Given the description of an element on the screen output the (x, y) to click on. 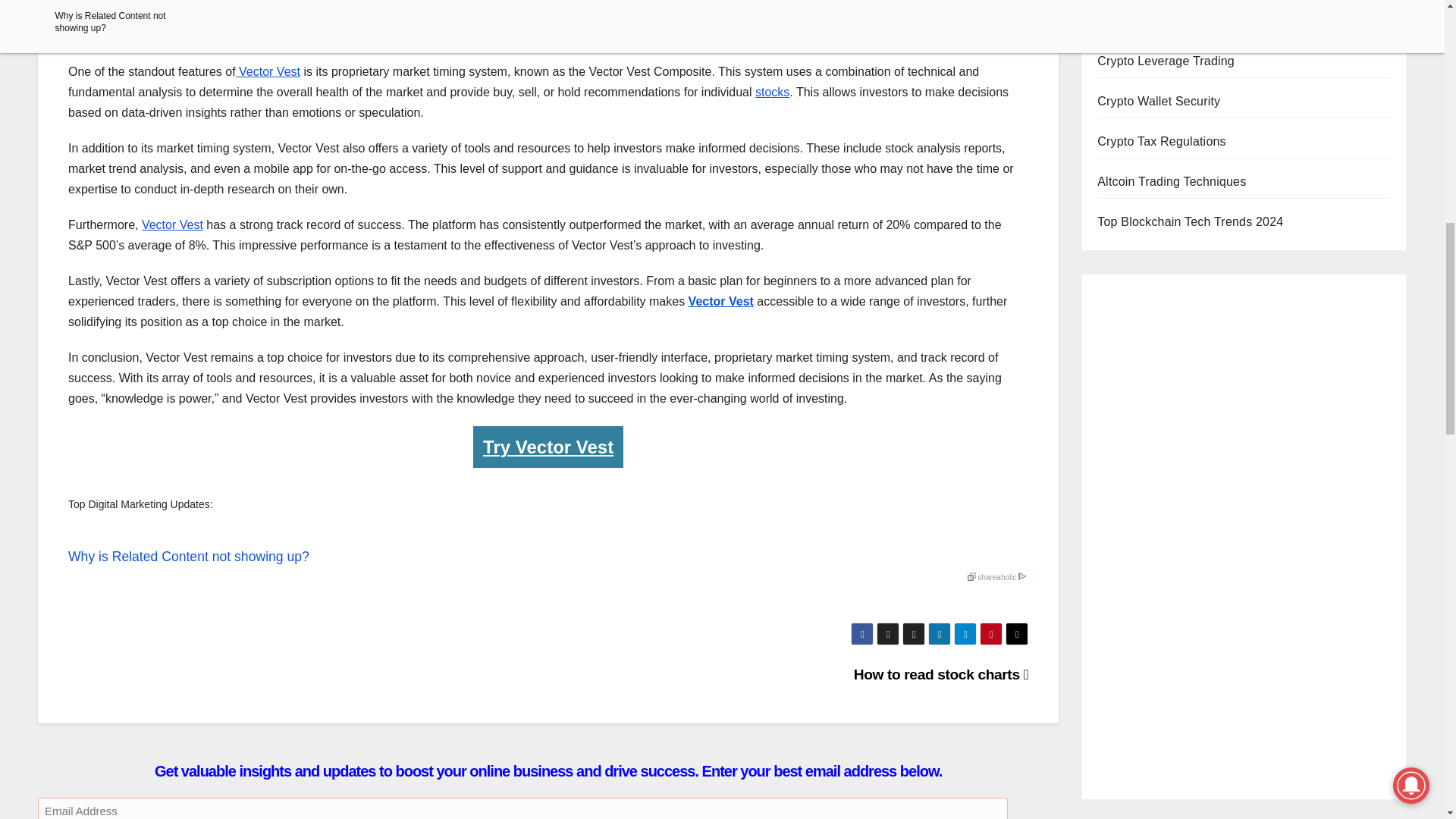
Vector Vest (172, 224)
Vector Vest (267, 71)
stocks (772, 91)
Vector Vest (721, 300)
shareaholic (997, 577)
Try Vector Vest (548, 446)
Why is Related Content not showing up? (547, 552)
